Given the description of an element on the screen output the (x, y) to click on. 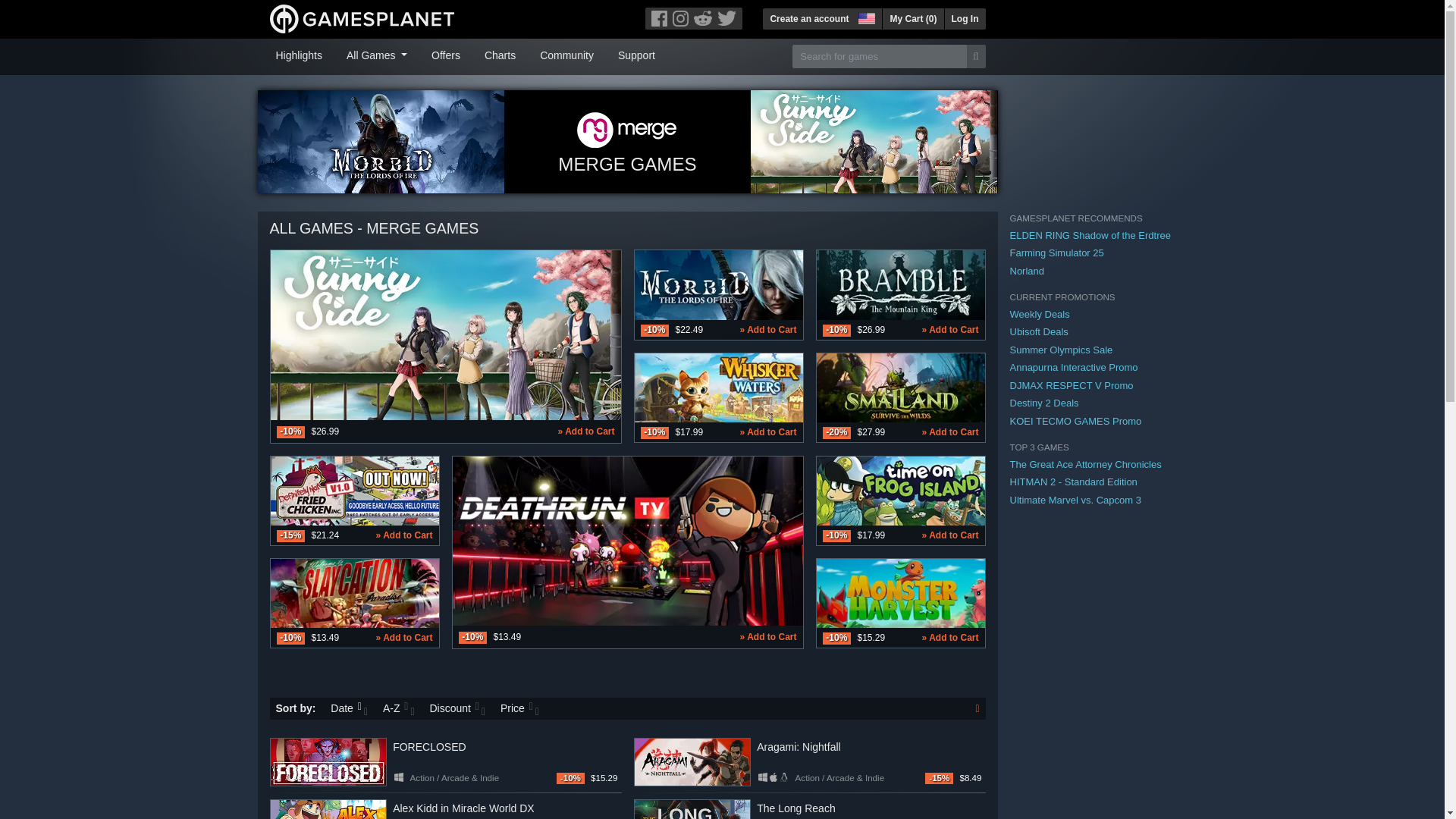
Alex Kidd in Miracle World DX (328, 809)
The Long Reach (692, 809)
Highlights (299, 53)
All Games (376, 53)
FORECLOSED (328, 761)
Log In (964, 18)
Create an account (809, 18)
Aragami: Nightfall (692, 761)
